Given the description of an element on the screen output the (x, y) to click on. 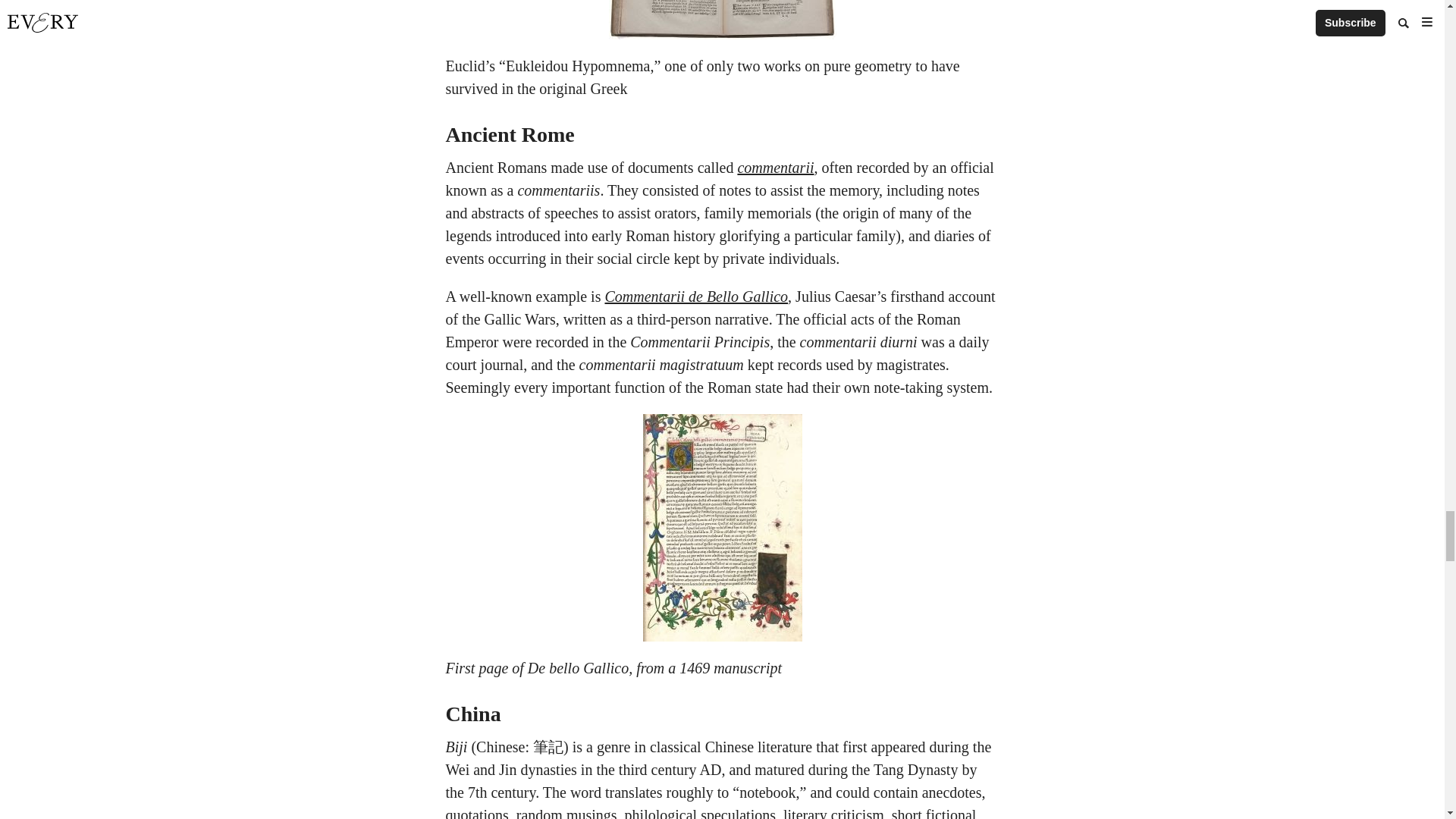
Commentarii de Bello Gallico (695, 296)
commentarii (774, 167)
